Given the description of an element on the screen output the (x, y) to click on. 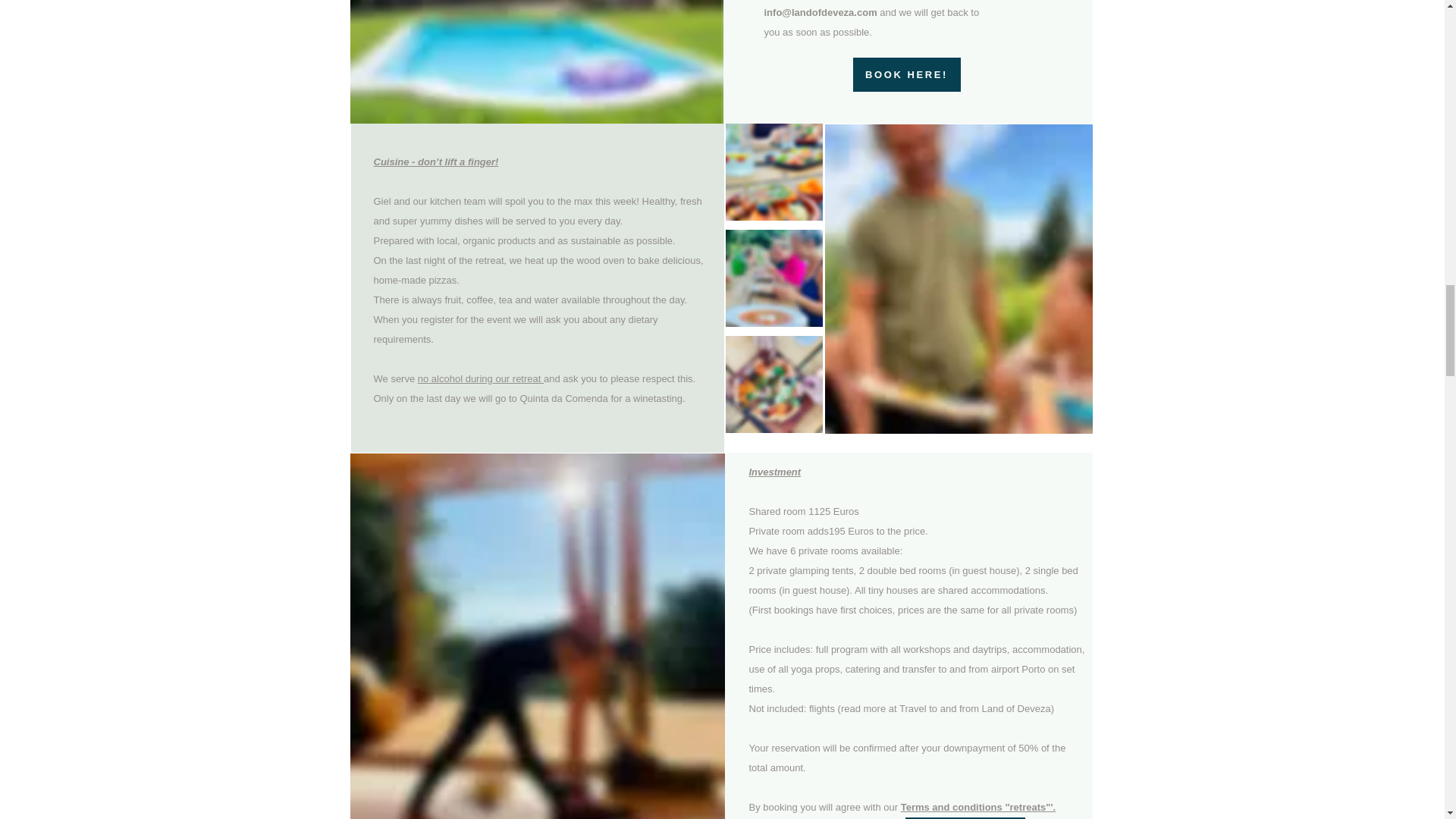
BOOK HERE! (905, 74)
I'M IN! (965, 818)
